Given the description of an element on the screen output the (x, y) to click on. 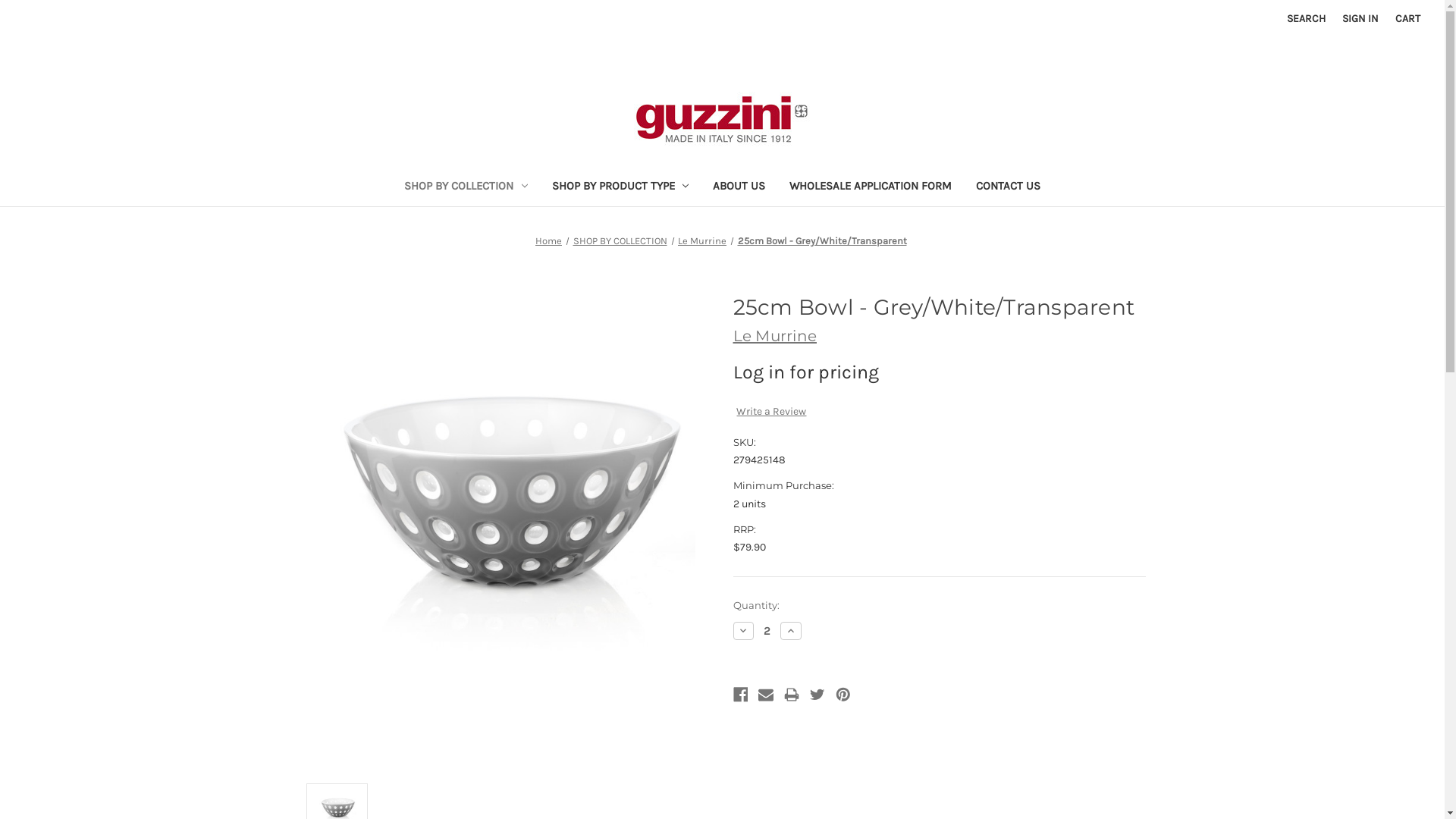
Home Element type: text (548, 240)
Fratelli Guzzini Element type: hover (722, 117)
CART Element type: text (1407, 18)
Le Murrine Element type: text (774, 335)
ABOUT US Element type: text (738, 187)
Write a Review Element type: text (771, 411)
SHOP BY COLLECTION Element type: text (465, 187)
SHOP BY PRODUCT TYPE Element type: text (620, 187)
Le Murrine Element type: text (701, 240)
SHOP BY COLLECTION Element type: text (620, 240)
Increase Quantity: Element type: text (790, 630)
25cm Bowl  - Grey/White/Transparent Element type: hover (504, 524)
SEARCH Element type: text (1305, 18)
25cm Bowl - Grey/White/Transparent Element type: text (821, 240)
WHOLESALE APPLICATION FORM Element type: text (870, 187)
CONTACT US Element type: text (1007, 187)
Decrease Quantity: Element type: text (742, 630)
SIGN IN Element type: text (1359, 18)
